Given the description of an element on the screen output the (x, y) to click on. 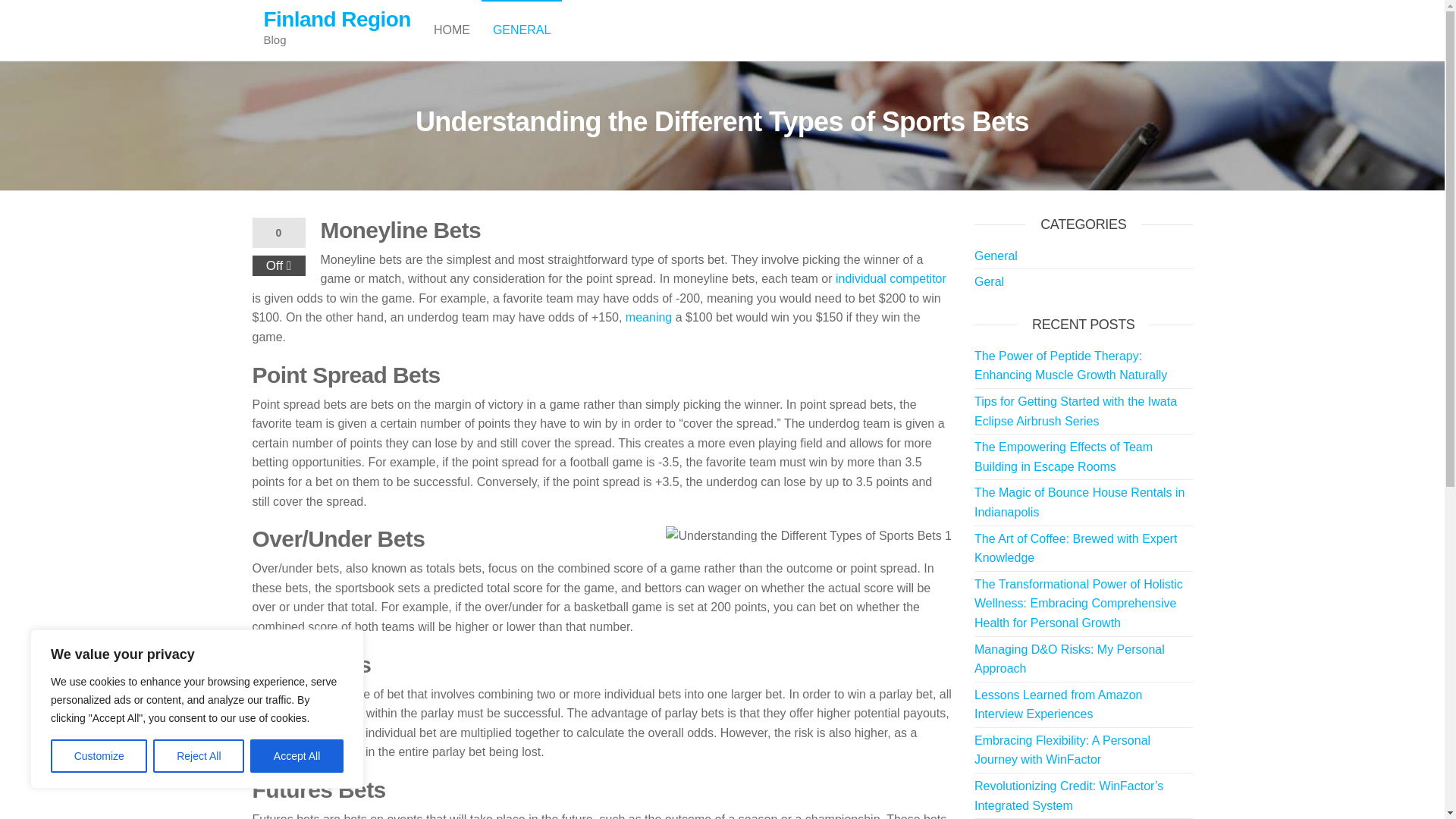
The Empowering Effects of Team Building in Escape Rooms (1063, 456)
Customize (98, 756)
General (521, 30)
The Magic of Bounce House Rentals in Indianapolis (1079, 502)
The Art of Coffee: Brewed with Expert Knowledge (1075, 548)
HOME (451, 30)
Accept All (296, 756)
Embracing Flexibility: A Personal Journey with WinFactor (1062, 749)
individual competitor (890, 278)
